Given the description of an element on the screen output the (x, y) to click on. 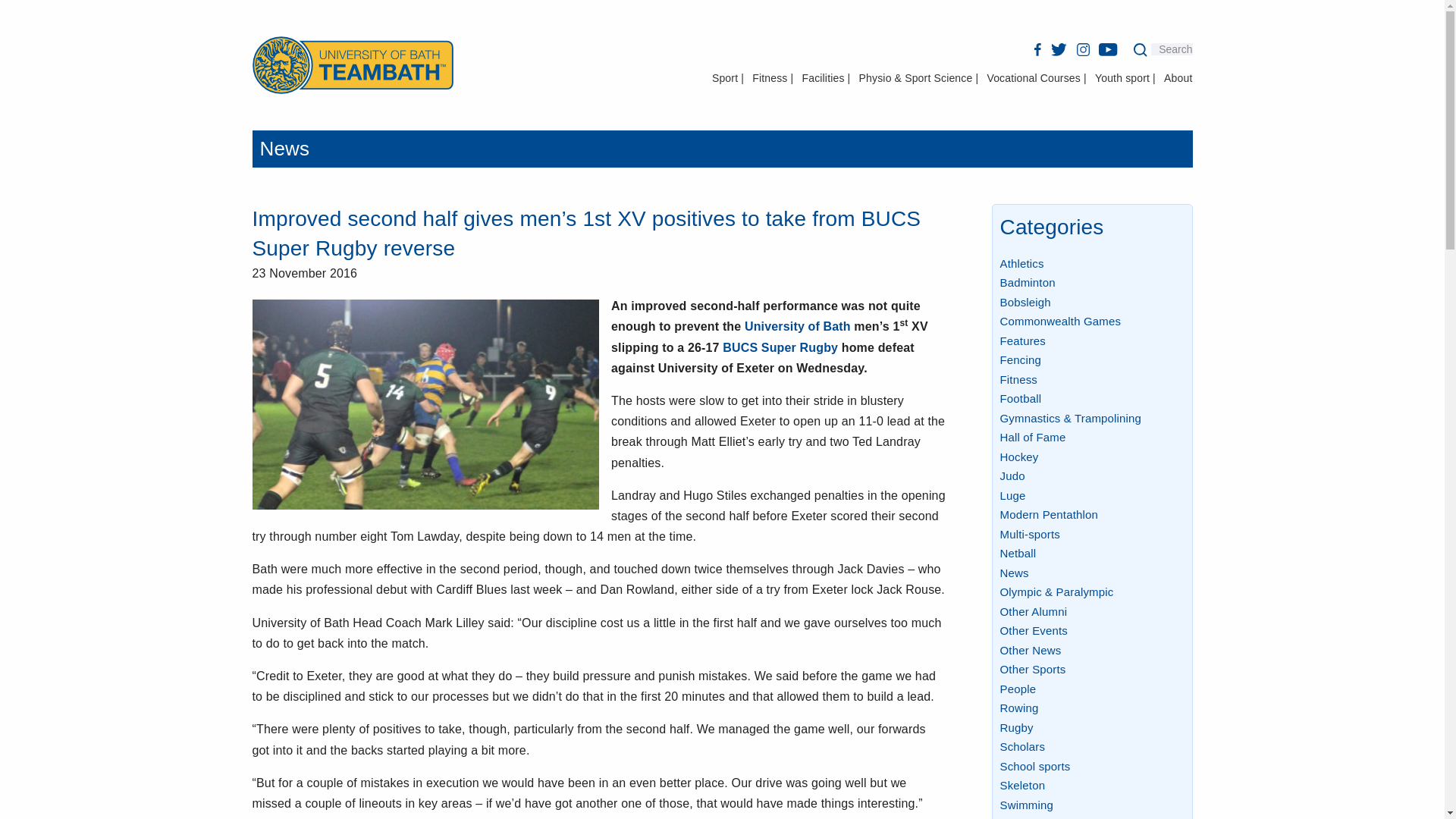
Badminton (1026, 282)
News (283, 148)
Features (1021, 340)
Athletics (1020, 263)
Bobsleigh (1023, 301)
Hockey (1018, 456)
Modern Pentathlon (1047, 513)
University of Bath (797, 326)
Commonwealth Games (1059, 320)
Fitness (1017, 379)
Hall of Fame (1031, 436)
BUCS Super Rugby (780, 347)
Football (1019, 398)
Judo (1011, 475)
Multi-sports (1028, 533)
